Given the description of an element on the screen output the (x, y) to click on. 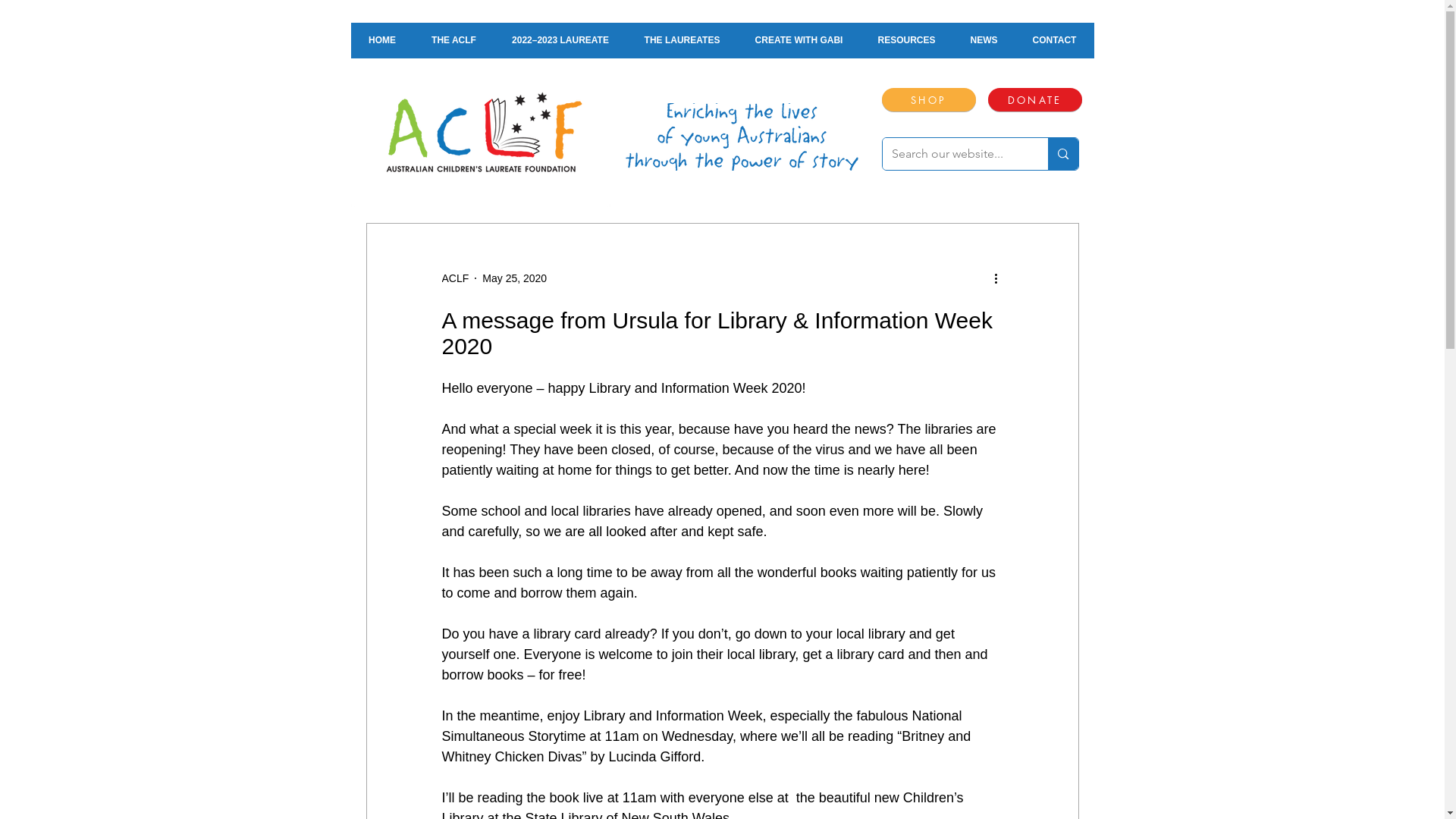
SHOP Element type: text (928, 99)
ACLF Element type: text (454, 277)
HOME Element type: text (381, 40)
DONATE Element type: text (1034, 99)
CONTACT Element type: text (1053, 40)
